Given the description of an element on the screen output the (x, y) to click on. 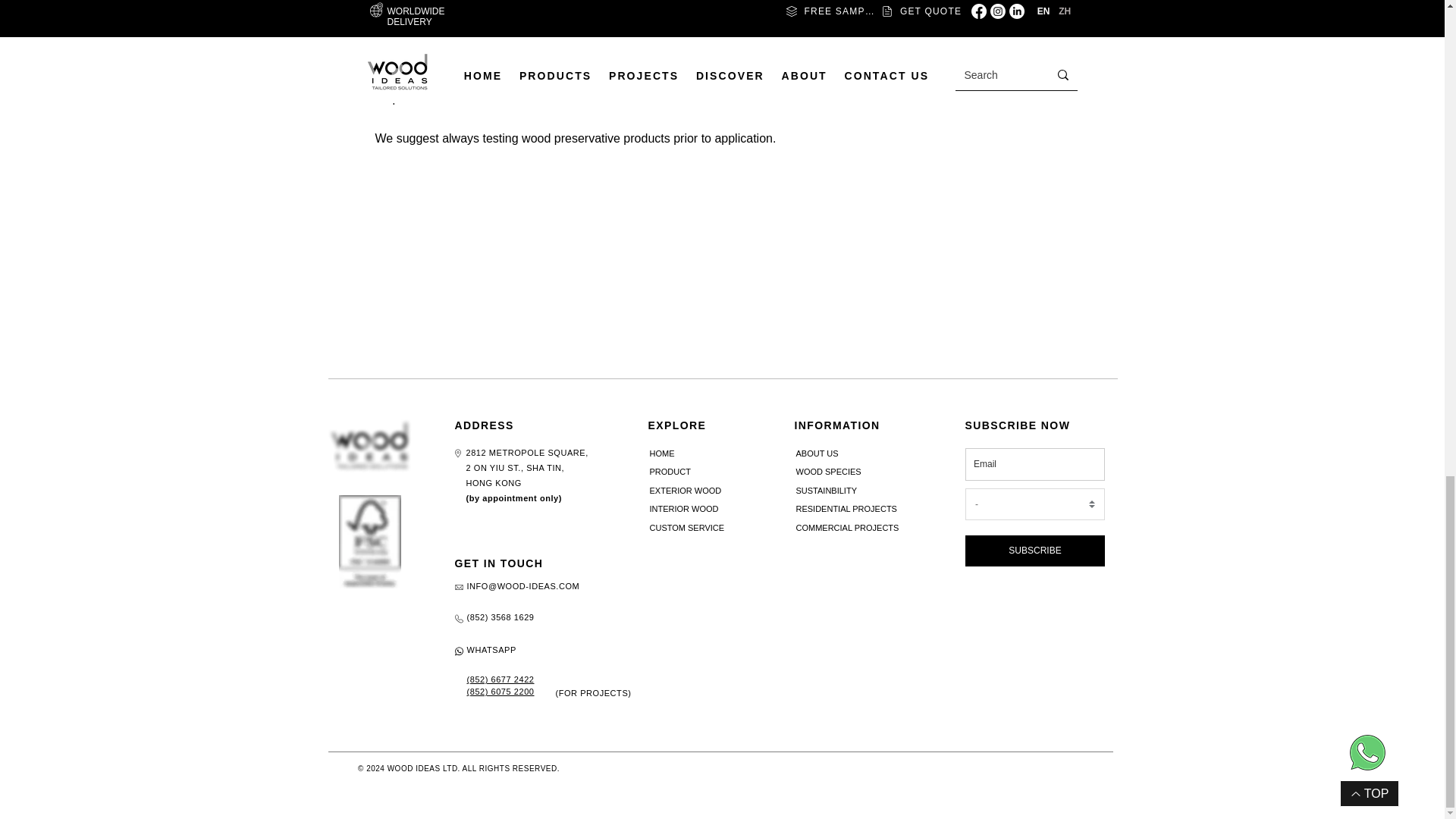
subscribe (1034, 508)
